Given the description of an element on the screen output the (x, y) to click on. 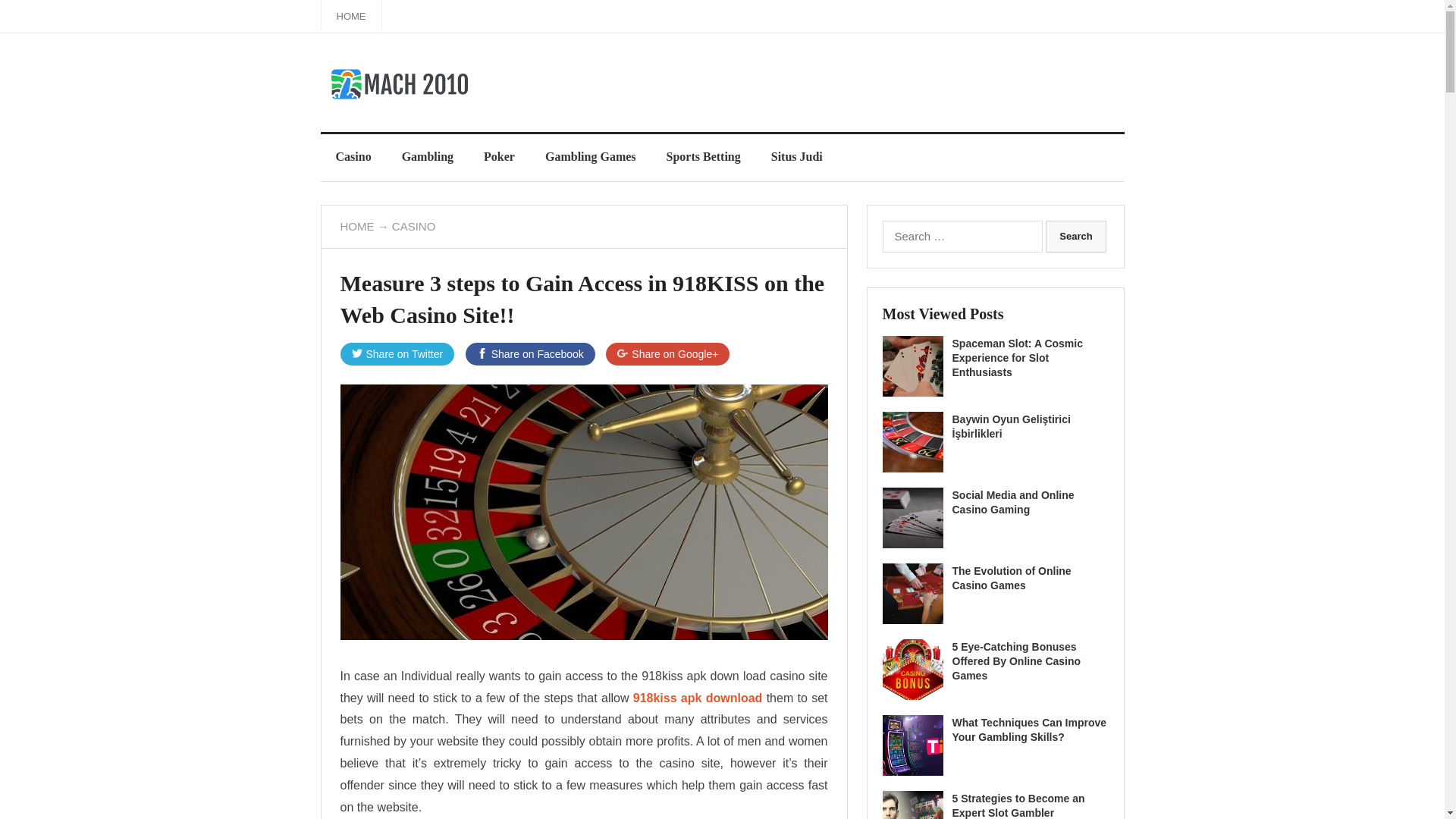
Share on Twitter (396, 354)
CASINO (413, 226)
Search (1075, 236)
Sports Betting (702, 156)
Gambling (427, 156)
Situs Judi (796, 156)
Gambling Games (589, 156)
Search (1075, 236)
Casino (352, 156)
View all posts in Casino (413, 226)
918kiss apk download (697, 697)
Share on Facebook (530, 354)
HOME (356, 226)
Poker (498, 156)
HOME (351, 16)
